Given the description of an element on the screen output the (x, y) to click on. 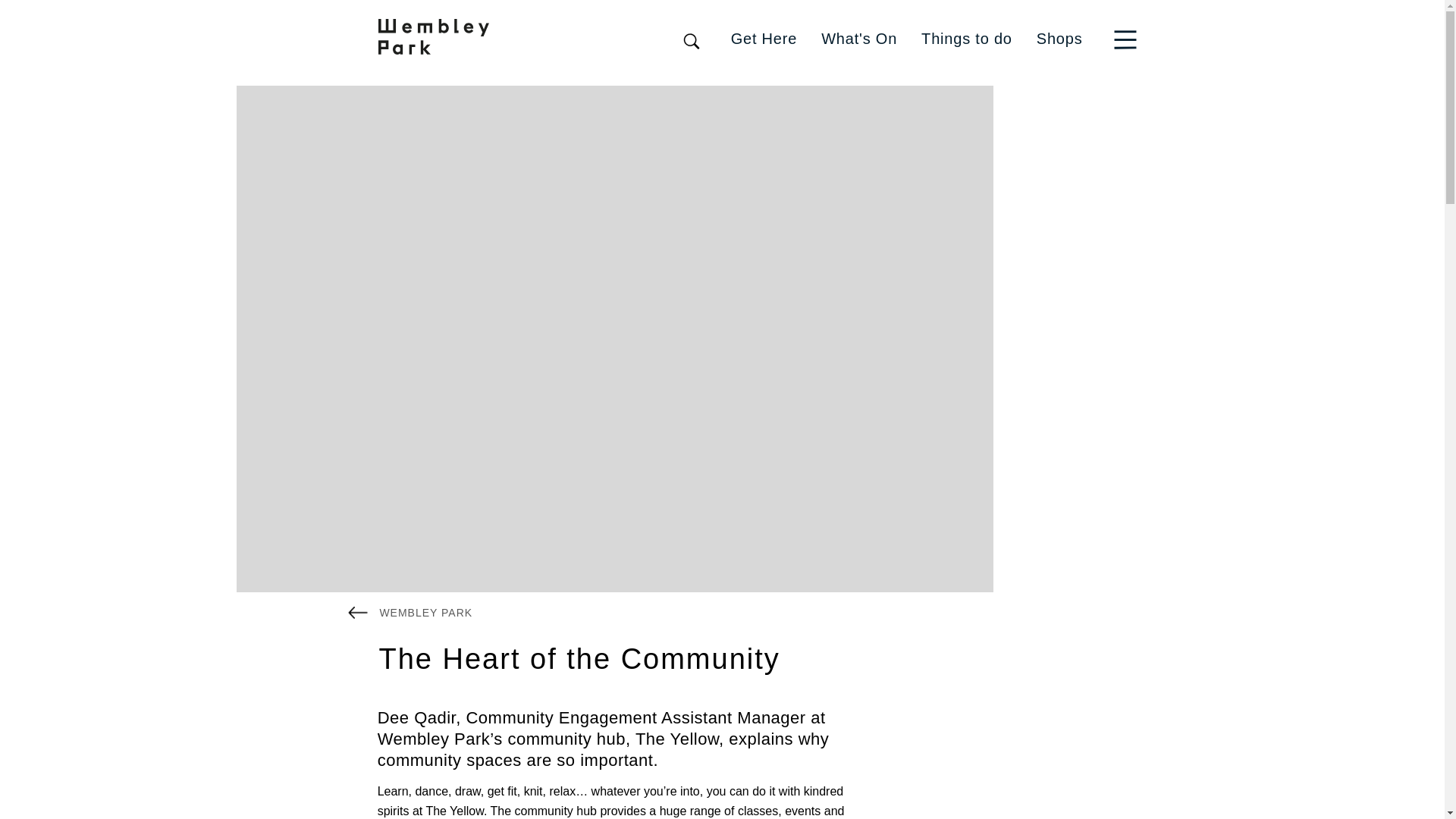
Things to do (966, 38)
Slice 1 Created with Sketch. (1128, 37)
Slice 1 Created with Sketch. (1125, 39)
Shops (1059, 38)
WEMBLEY PARK (409, 611)
What's On (858, 38)
Get Here (763, 38)
